Given the description of an element on the screen output the (x, y) to click on. 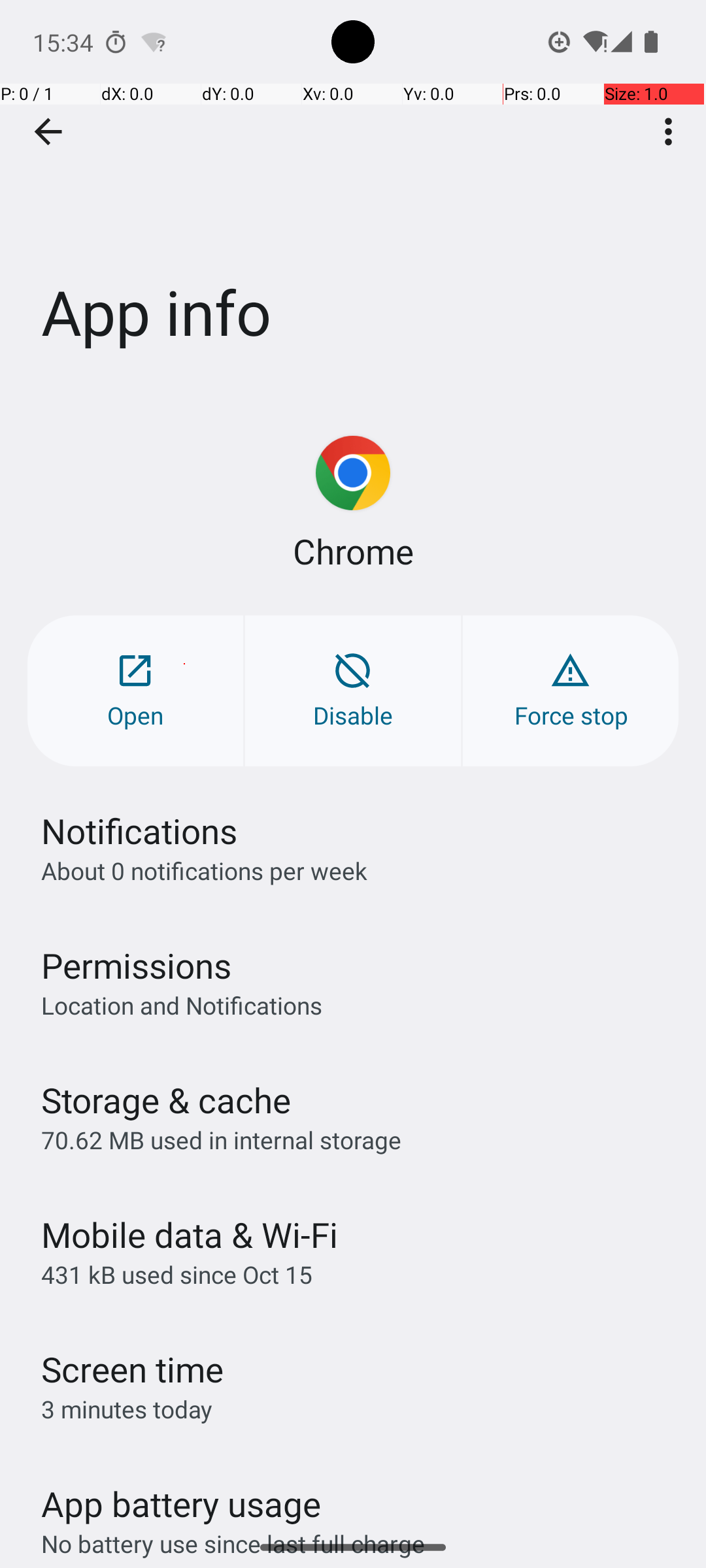
Location and Notifications Element type: android.widget.TextView (181, 1004)
70.62 MB used in internal storage Element type: android.widget.TextView (221, 1139)
431 kB used since Oct 15 Element type: android.widget.TextView (176, 1273)
3 minutes today Element type: android.widget.TextView (127, 1408)
